Given the description of an element on the screen output the (x, y) to click on. 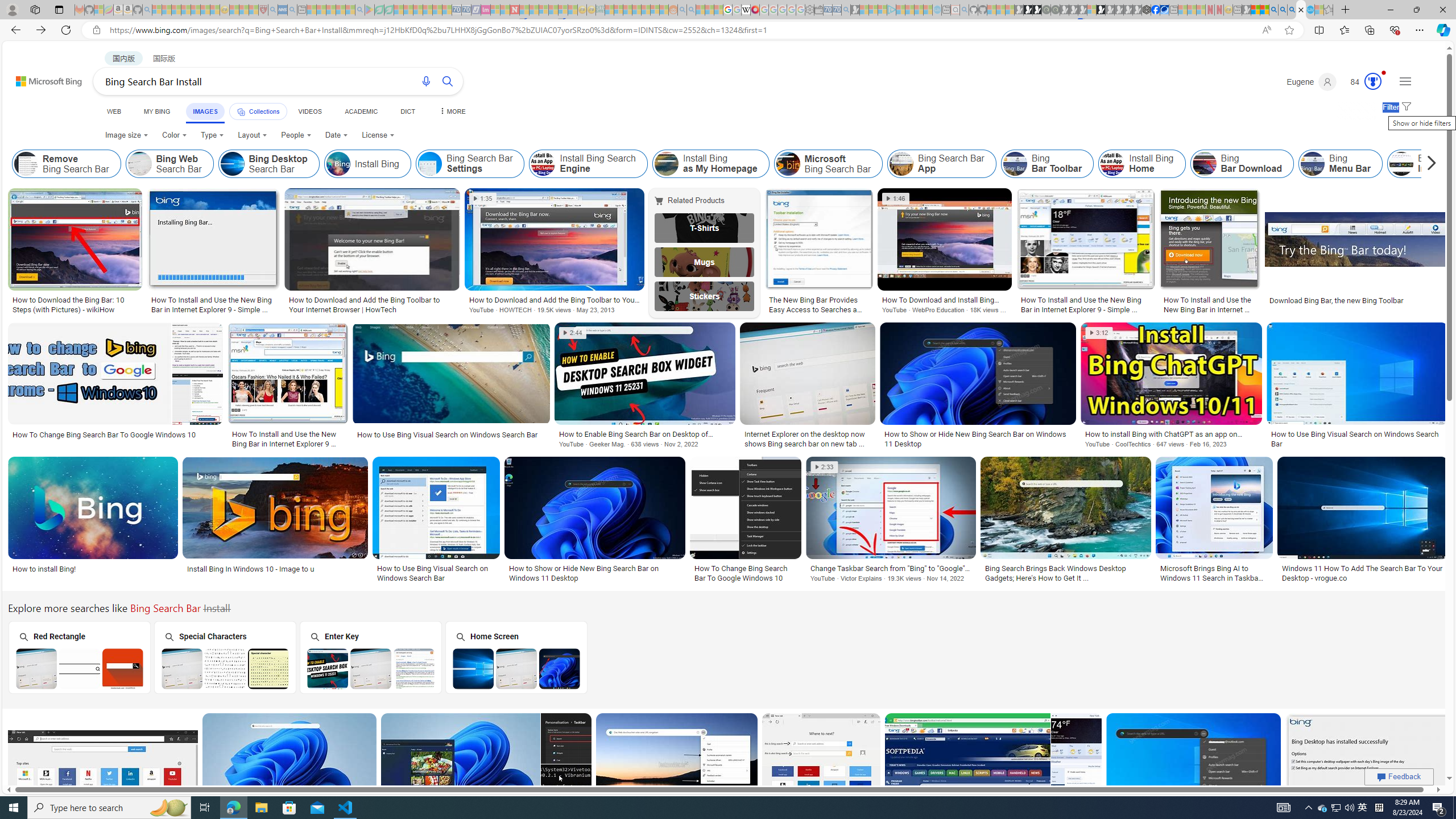
Nordace - Cooler Bags (1146, 9)
2:44 (572, 332)
Settings - Sleeping (809, 9)
